Given the description of an element on the screen output the (x, y) to click on. 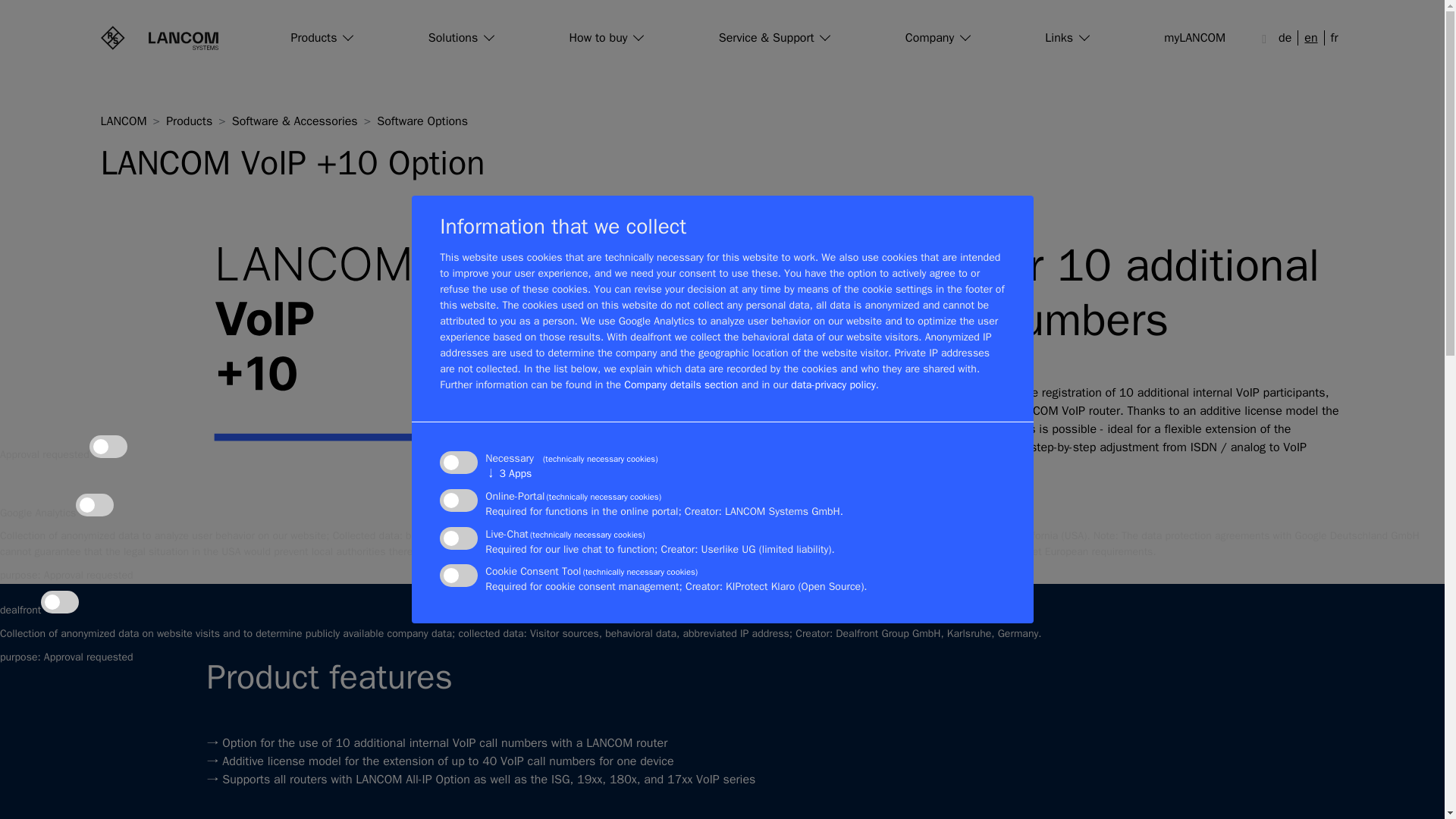
Logo (158, 37)
Products (321, 37)
Products (321, 37)
